Given the description of an element on the screen output the (x, y) to click on. 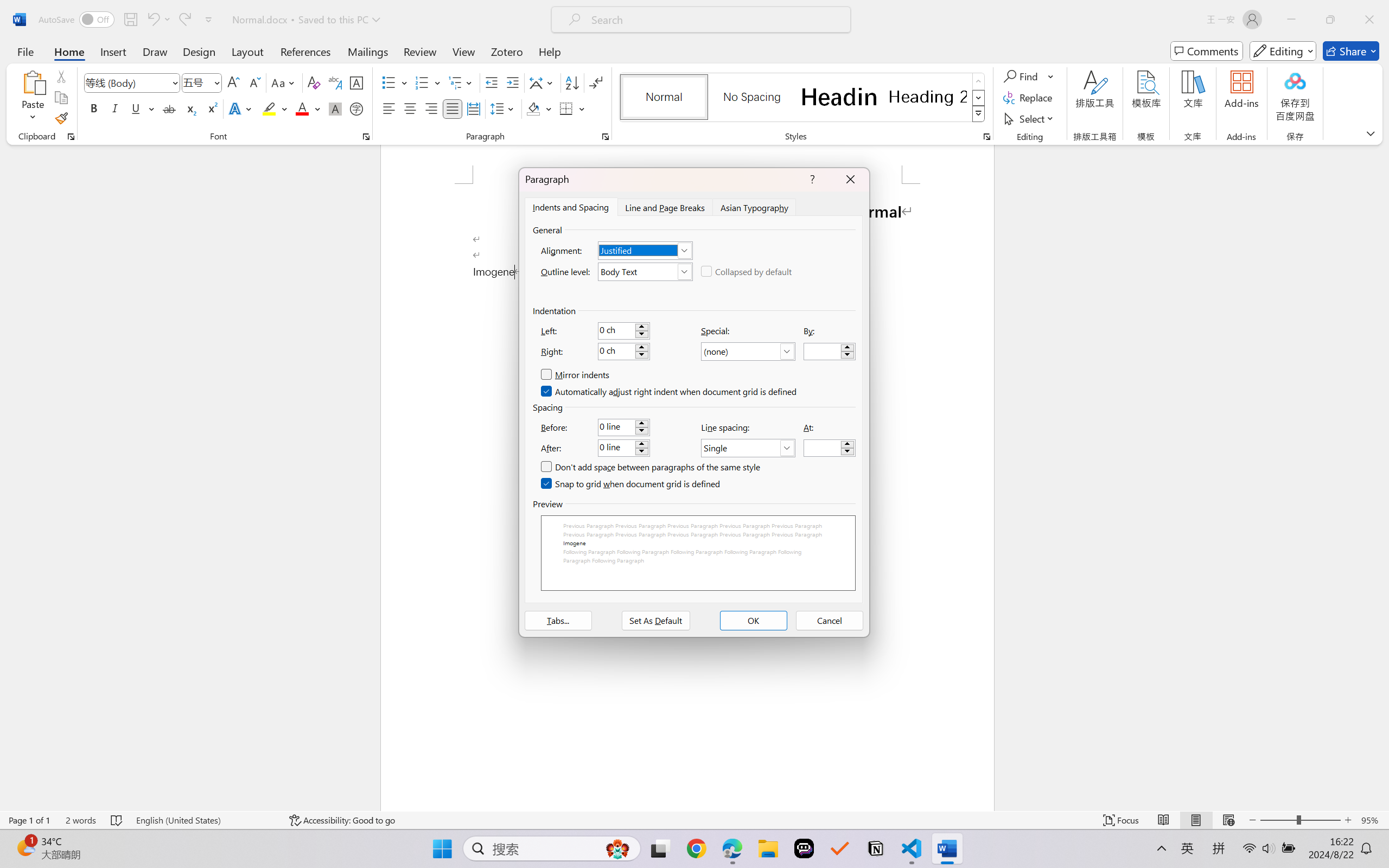
Zoom 159% (1364, 837)
